Given the description of an element on the screen output the (x, y) to click on. 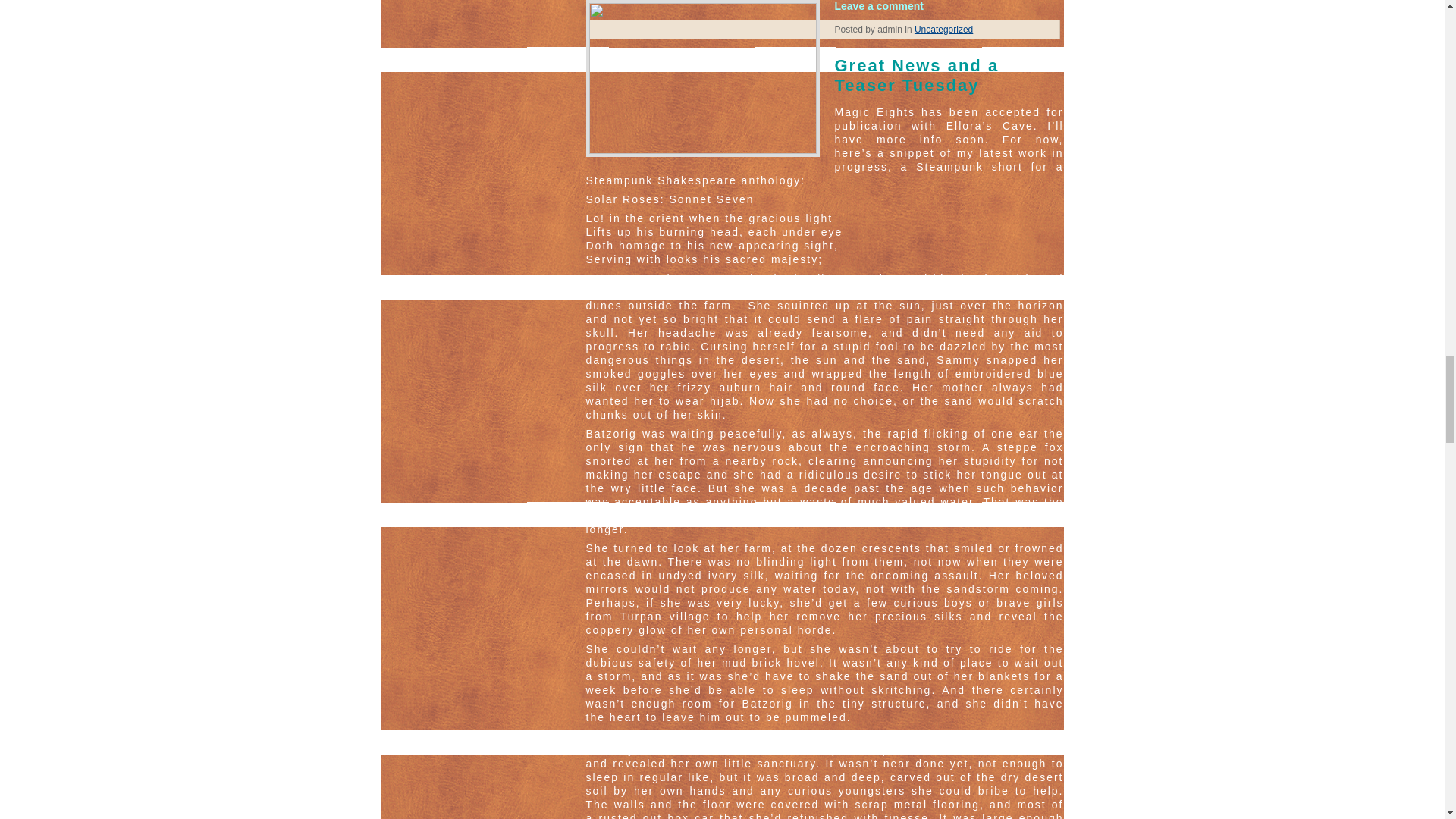
Great News and a Teaser Tuesday (823, 77)
Leave a comment (878, 6)
Uncategorized (943, 29)
